Given the description of an element on the screen output the (x, y) to click on. 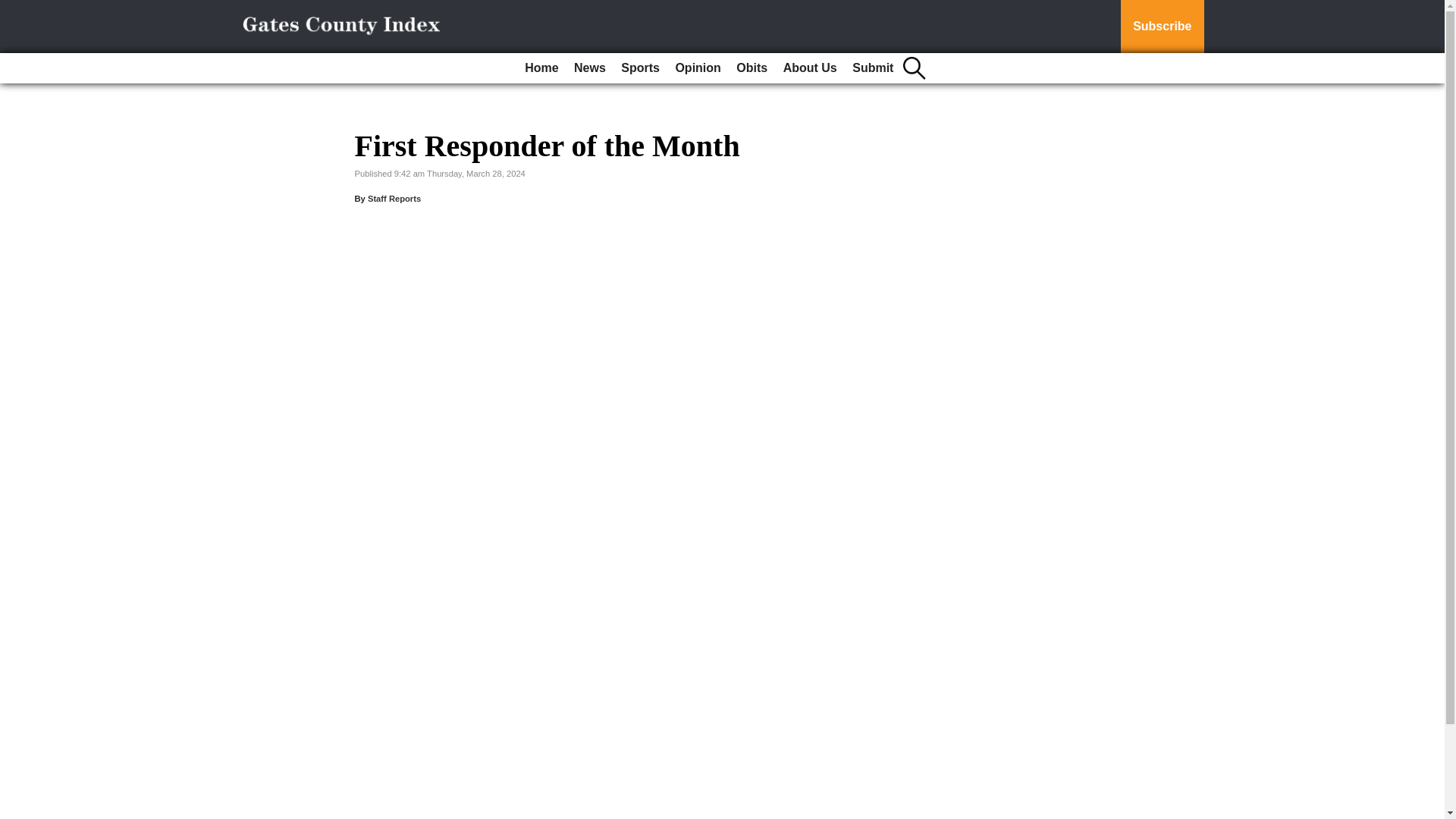
Home (541, 68)
Sports (639, 68)
Subscribe (1162, 26)
About Us (810, 68)
Obits (751, 68)
Staff Reports (394, 198)
News (589, 68)
Go (13, 9)
Opinion (697, 68)
Submit (872, 68)
